Given the description of an element on the screen output the (x, y) to click on. 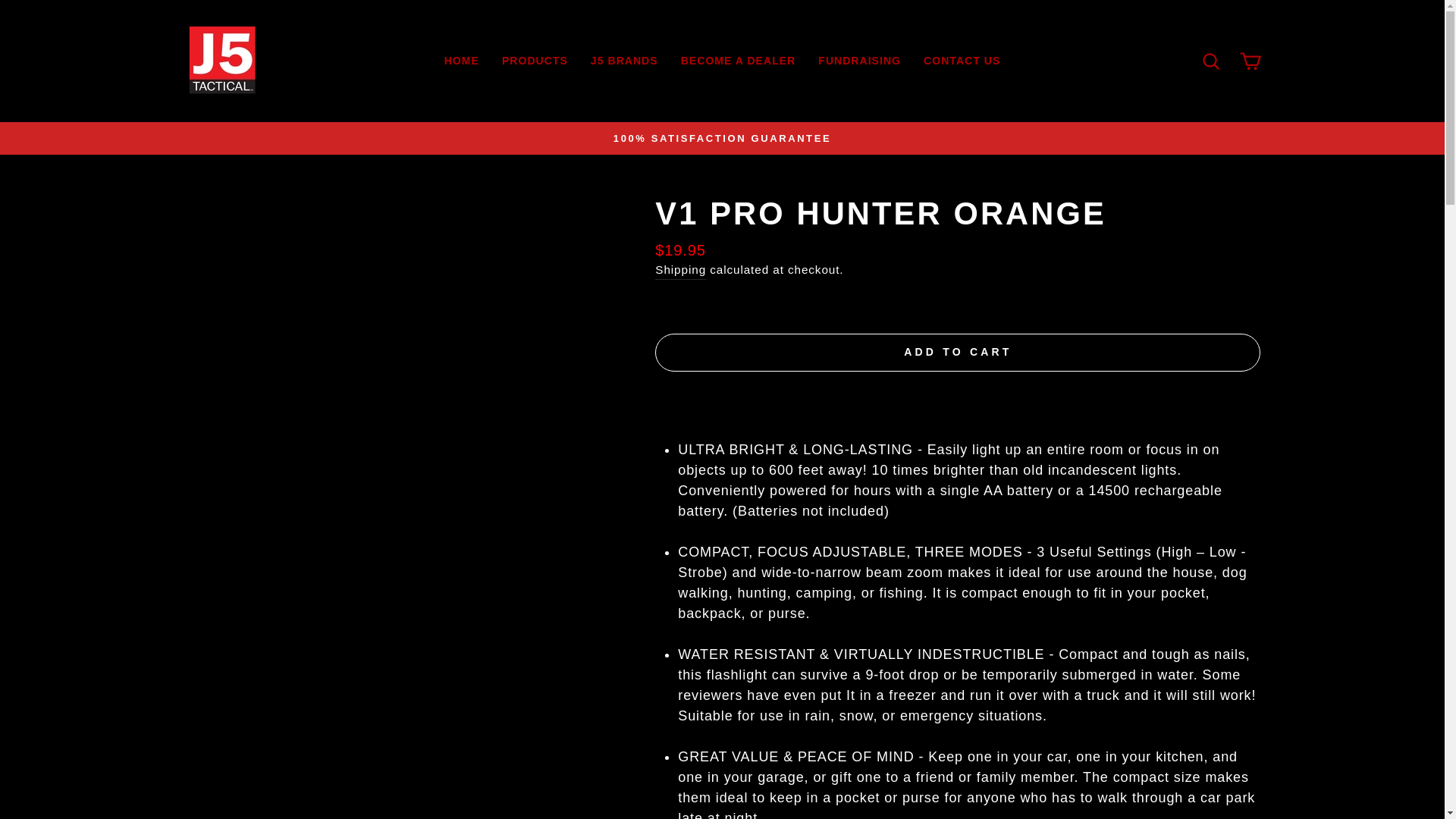
FUNDRAISING (859, 60)
HOME (461, 60)
J5 BRANDS (624, 60)
CONTACT US (961, 60)
PRODUCTS (534, 60)
SEARCH (1210, 60)
BECOME A DEALER (738, 60)
CART (1249, 60)
